Given the description of an element on the screen output the (x, y) to click on. 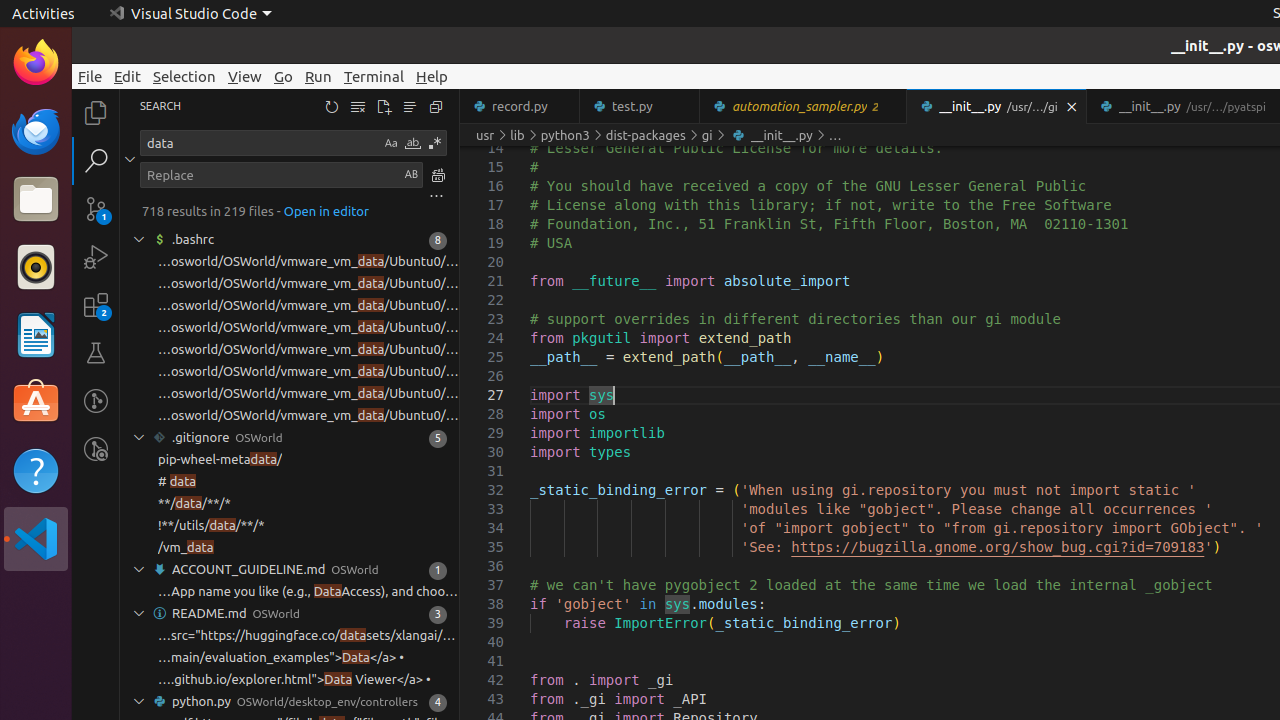
…osworld/OSWorld/vmware_vm_data/Ubuntu0/Ubuntu0.vmx Element type: link (308, 393)
Firefox Web Browser Element type: push-button (36, 63)
…main/evaluation_examples">Data</a> • Element type: link (281, 657)
Open in editor Element type: link (326, 210)
